Given the description of an element on the screen output the (x, y) to click on. 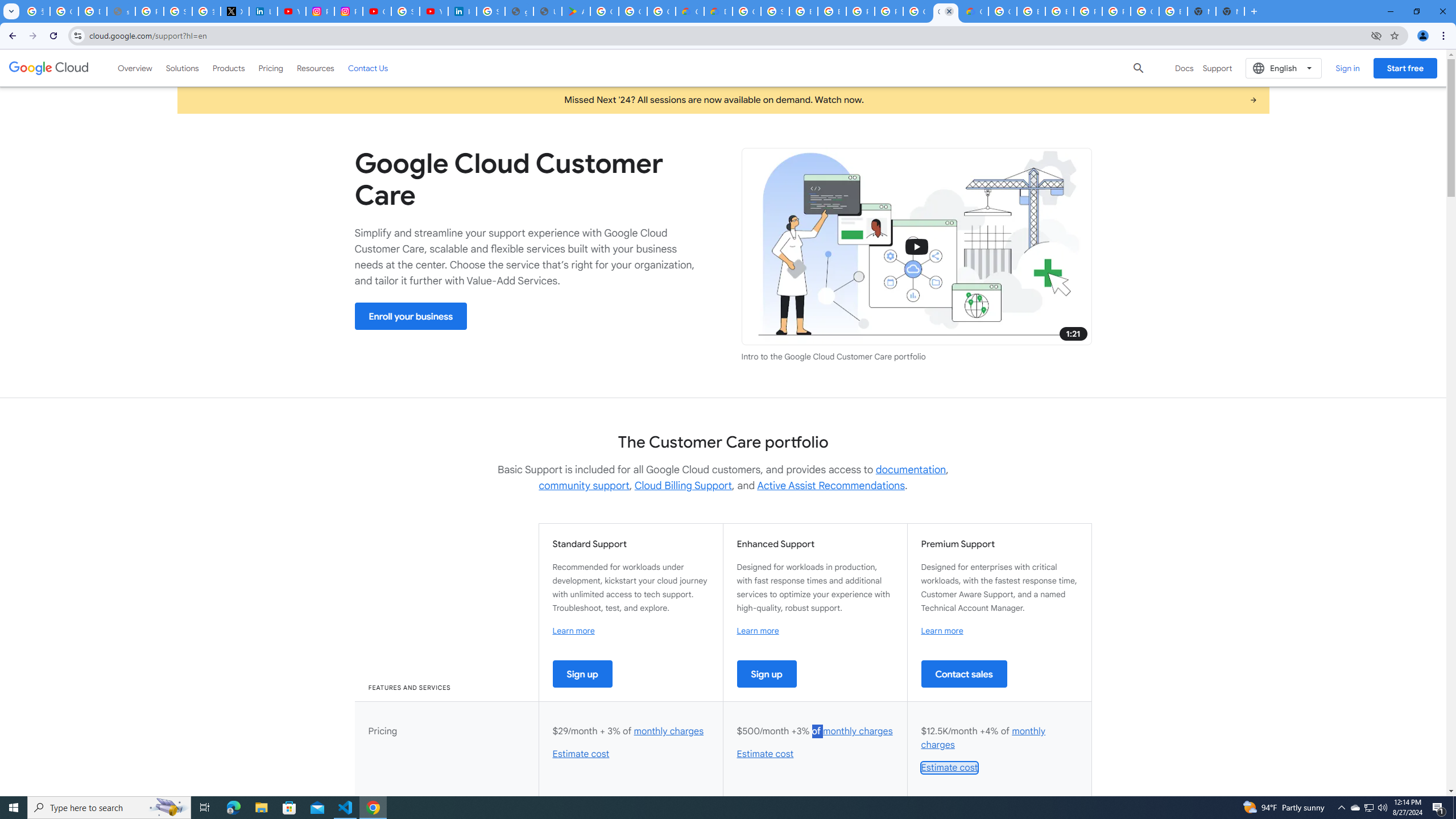
Android Apps on Google Play (575, 11)
Support (1216, 67)
Start free (1405, 67)
Support illustration (916, 246)
Contact sales (963, 673)
Solutions (181, 67)
Google Cloud Estimate Summary (973, 11)
Google Cloud Platform (917, 11)
